Given the description of an element on the screen output the (x, y) to click on. 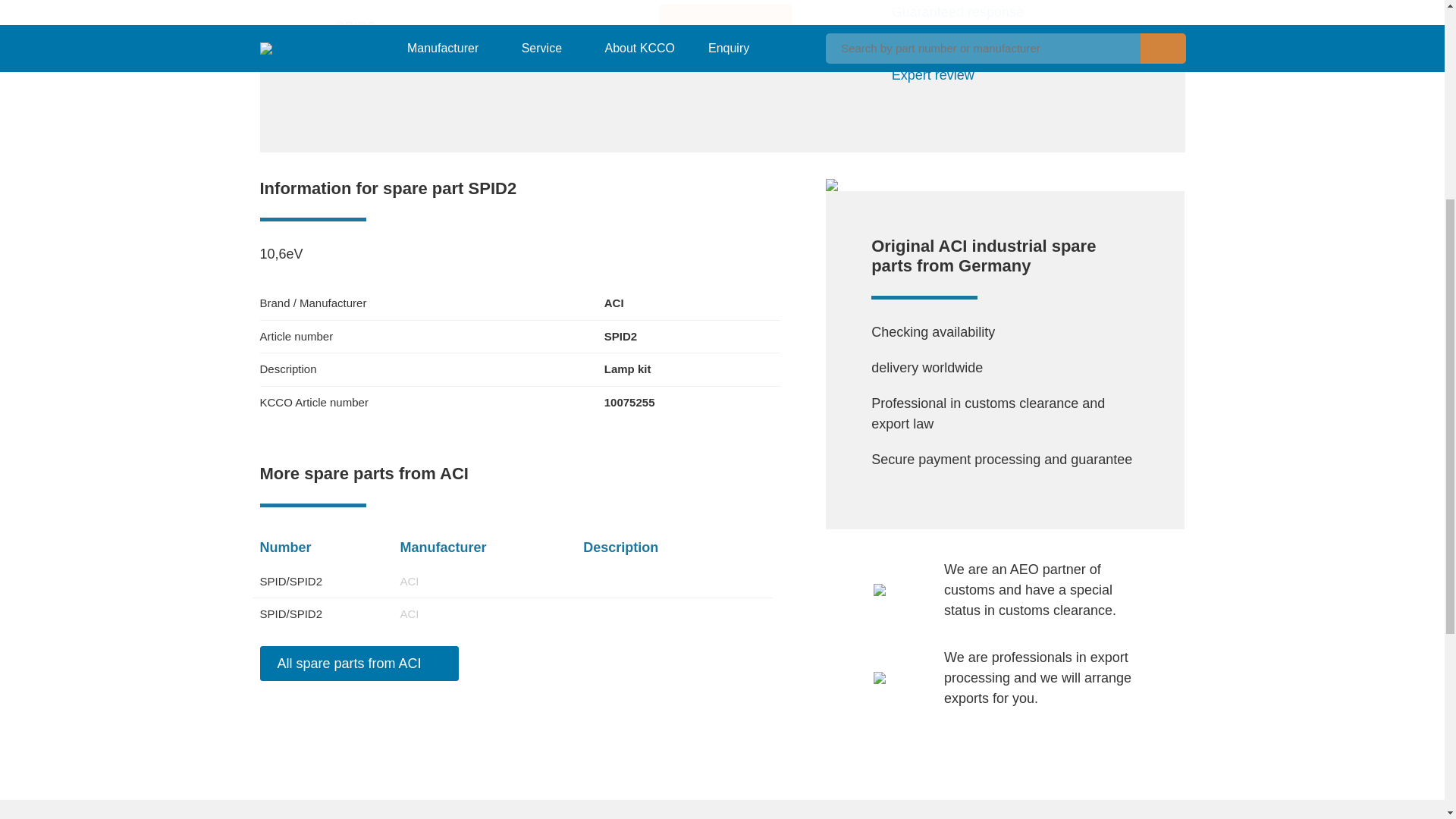
Add to request (725, 27)
All spare parts from ACI (358, 663)
SPID2 (548, 27)
